Given the description of an element on the screen output the (x, y) to click on. 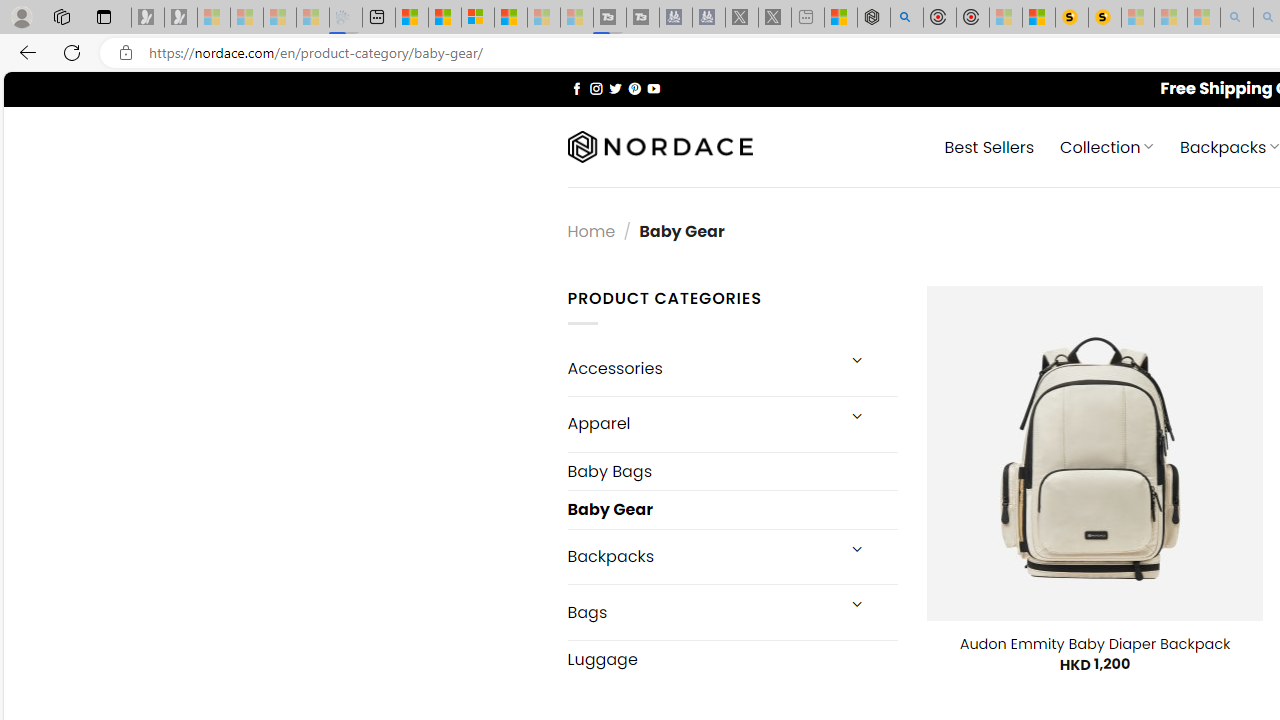
  Best Sellers (989, 146)
amazon - Search - Sleeping (1237, 17)
Baby Bags (732, 471)
poe - Search (906, 17)
Overview (478, 17)
